Given the description of an element on the screen output the (x, y) to click on. 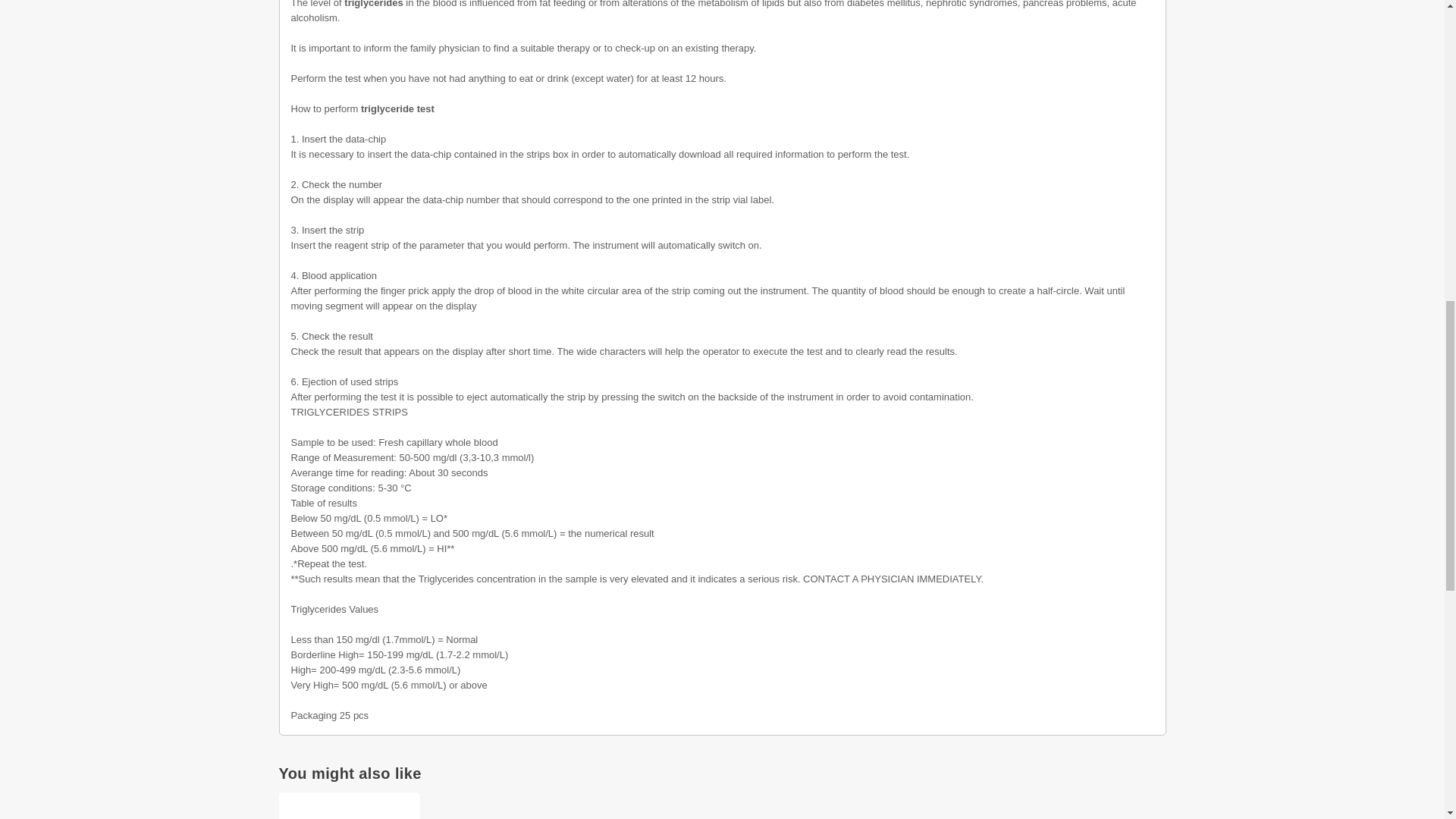
Multicare In 3-parameter meter (349, 805)
